Given the description of an element on the screen output the (x, y) to click on. 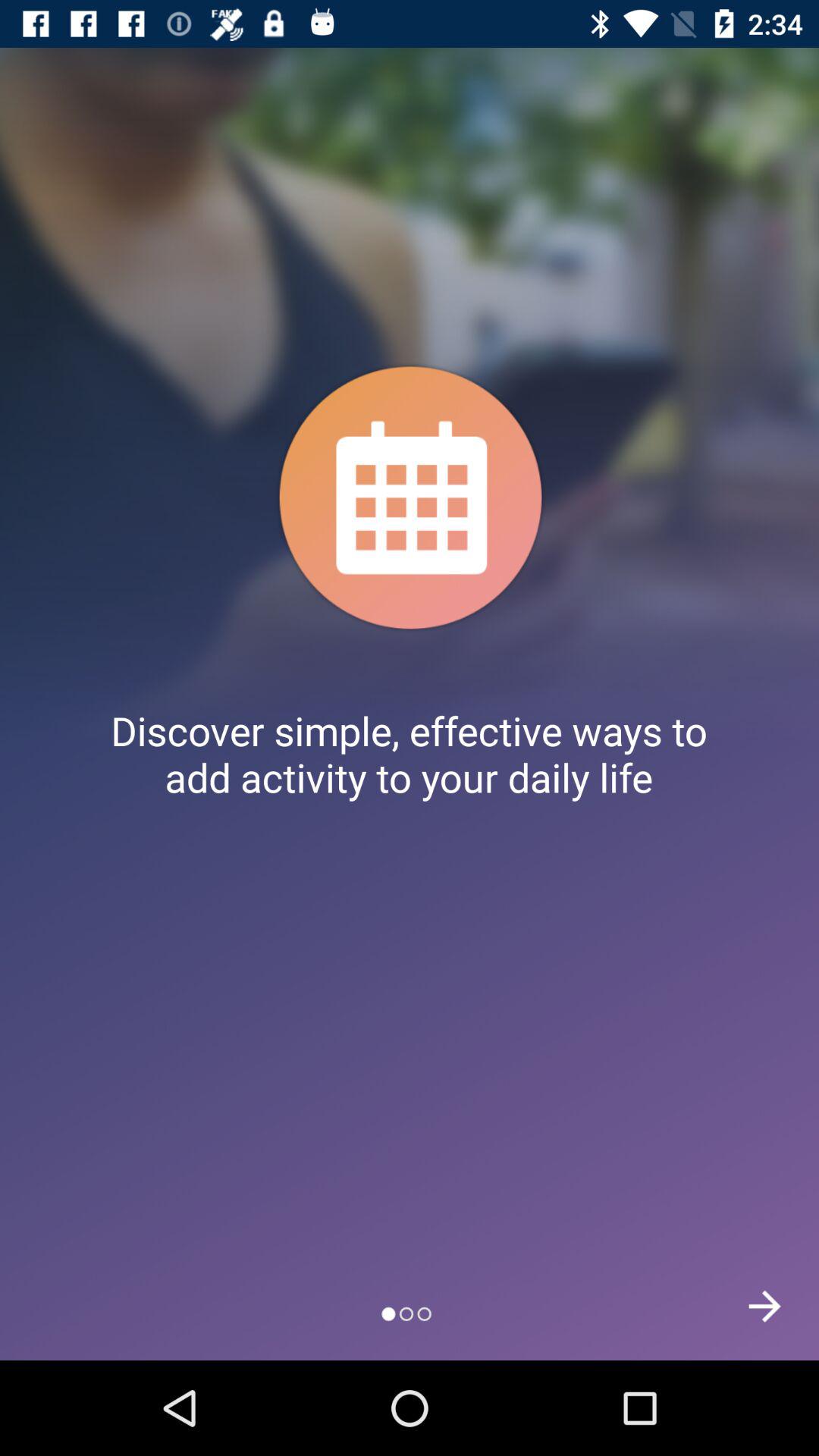
go to next (764, 1306)
